Given the description of an element on the screen output the (x, y) to click on. 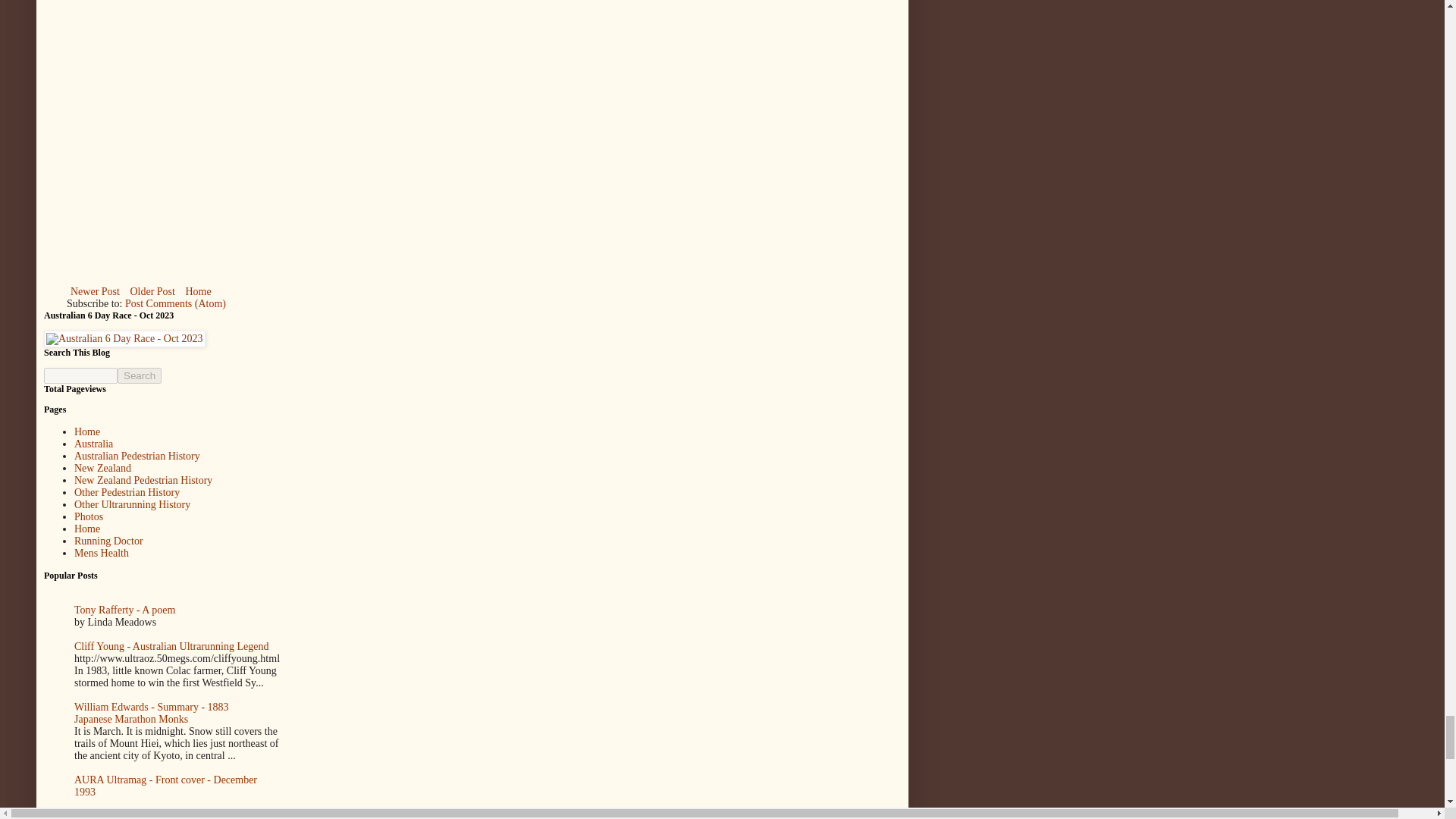
Running Doctor (108, 541)
Older Post (152, 291)
Cliff Young - Australian Ultrarunning Legend (170, 645)
Australia (93, 443)
Home (87, 431)
Search (139, 375)
Home (197, 291)
Photos (88, 516)
search (80, 375)
Tony Rafferty - A poem (124, 609)
search (139, 375)
Newer Post (94, 291)
Search (139, 375)
Home (87, 528)
Other Pedestrian History (126, 491)
